Given the description of an element on the screen output the (x, y) to click on. 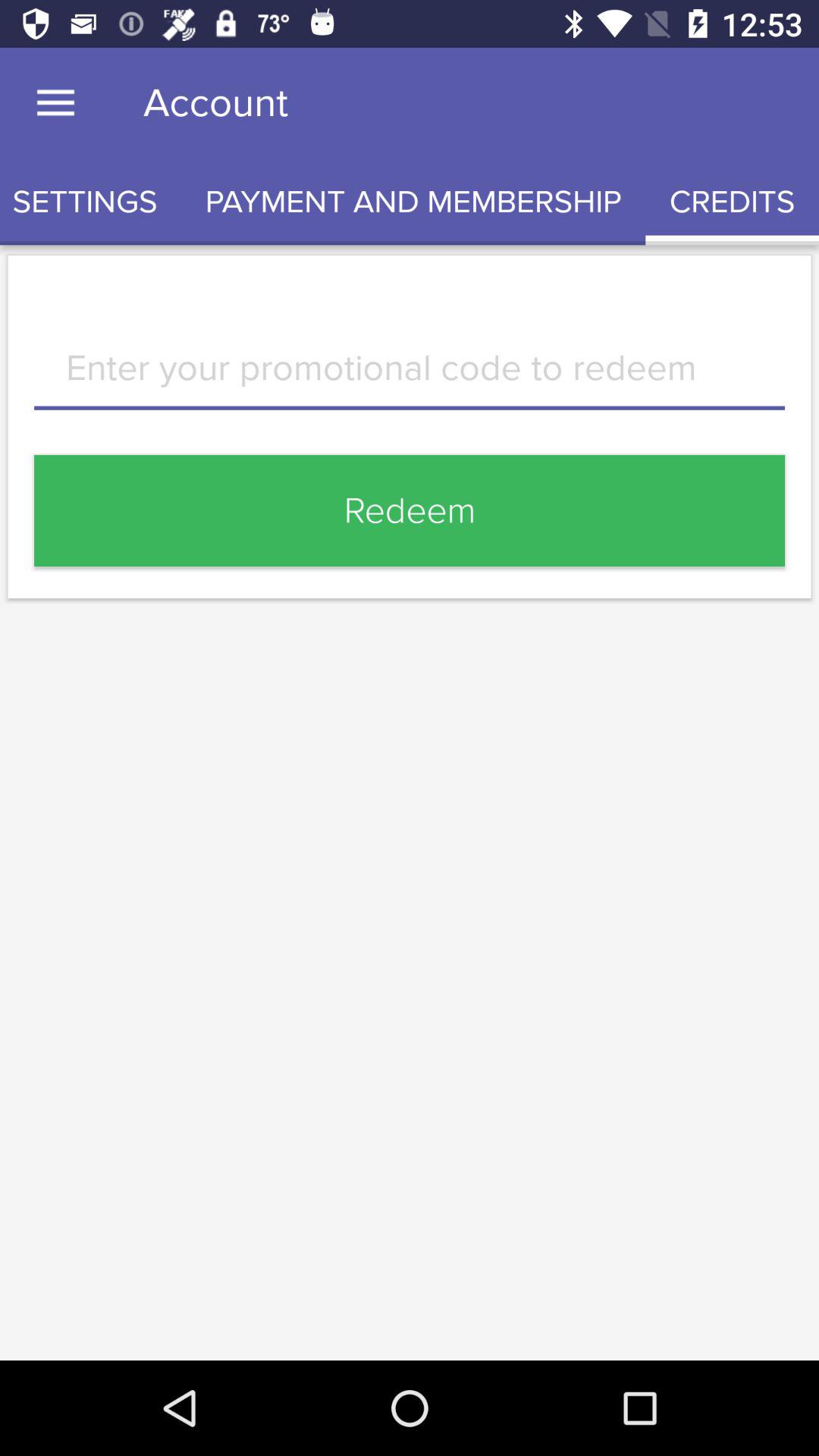
launch item at the top right corner (732, 202)
